Given the description of an element on the screen output the (x, y) to click on. 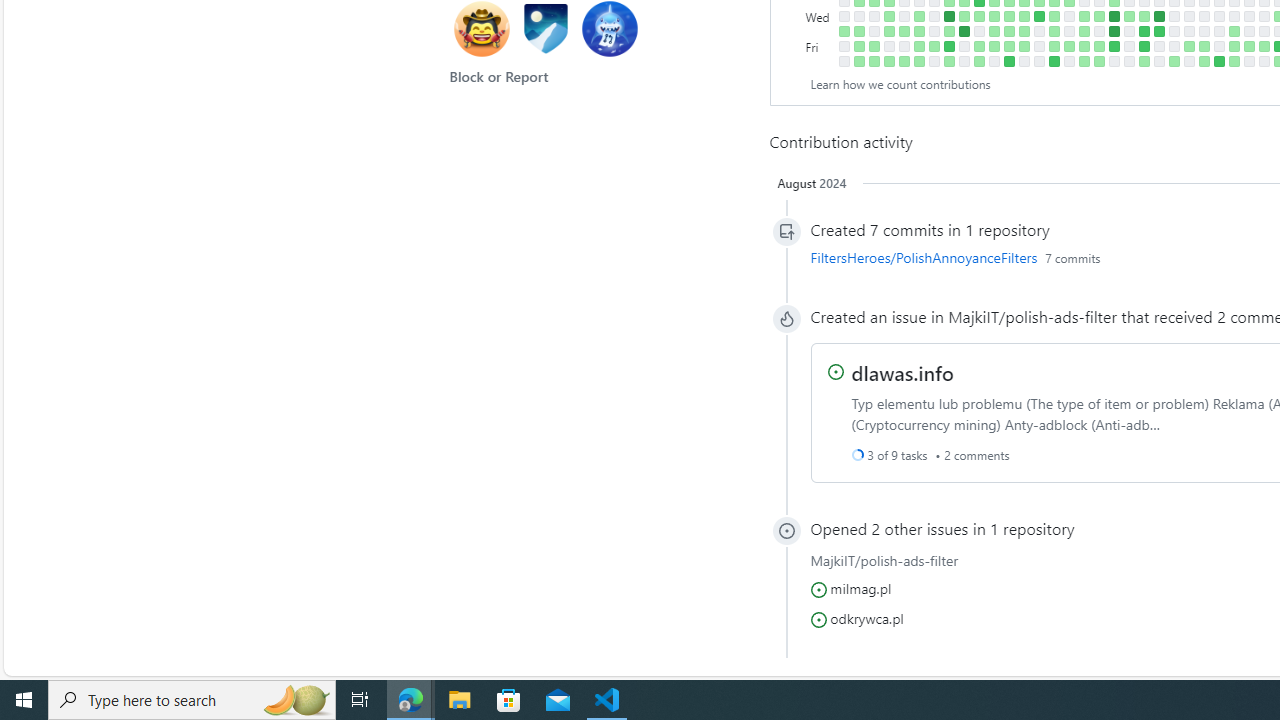
3 contributions on November 10th. (1009, 46)
1 contribution on September 16th. (888, 61)
1 contribution on February 23rd. (1233, 46)
4 contributions on November 8th. (1009, 16)
No contributions on December 21st. (1098, 30)
1 contribution on September 14th. (888, 30)
odkrywca.pl (866, 617)
No contributions on March 9th. (1263, 61)
No contributions on December 30th. (1114, 61)
No contributions on August 25th. (843, 46)
Friday (819, 46)
1 contribution on December 23rd. (1098, 61)
6 contributions on January 12th. (1143, 46)
1 contribution on January 13th. (1143, 61)
4 contributions on December 20th. (1098, 16)
